Given the description of an element on the screen output the (x, y) to click on. 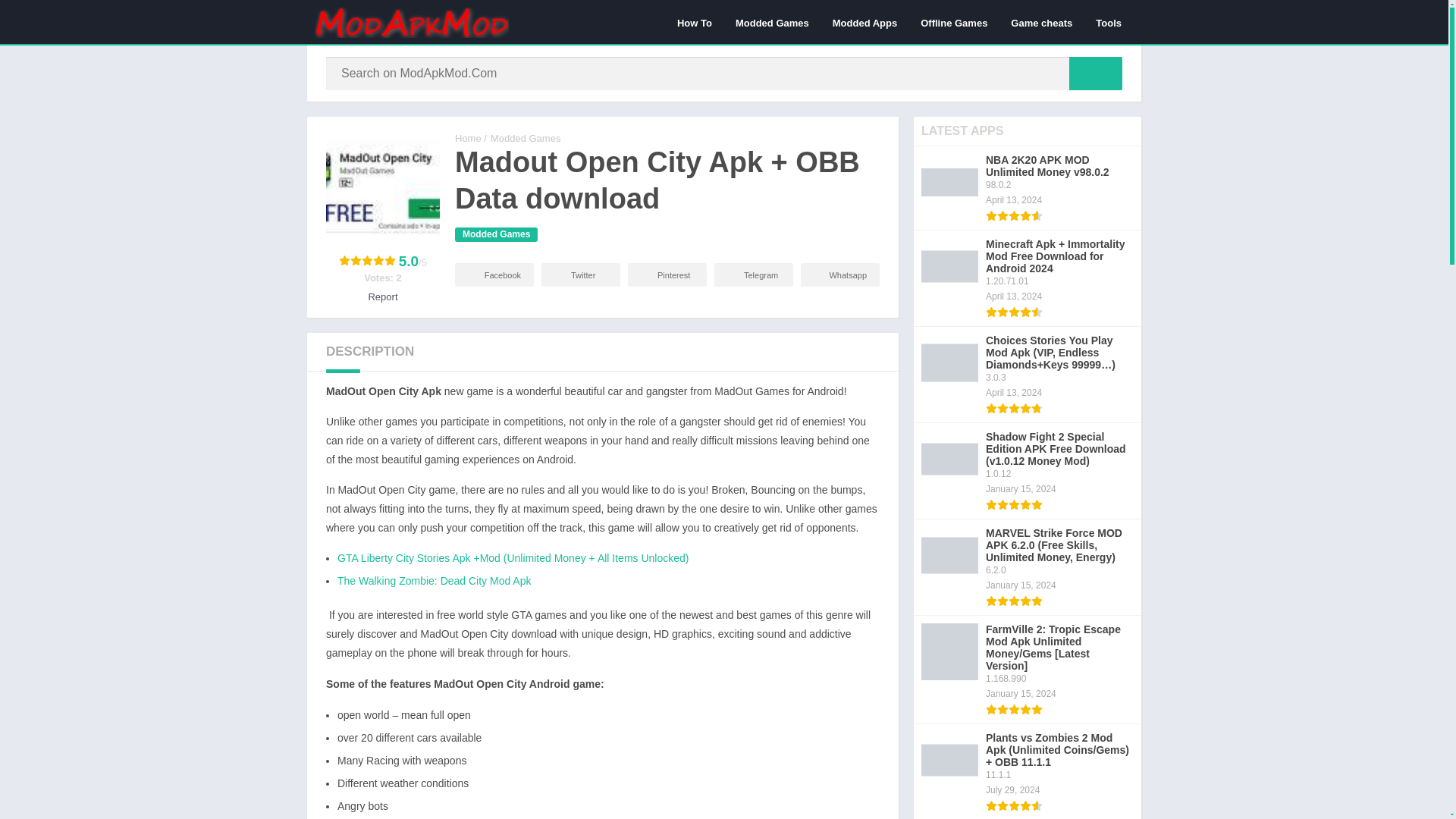
Modded Apps (864, 22)
Home (467, 138)
Twitter (580, 274)
Whatsapp (839, 274)
NBA 2K20 APK MOD Unlimited Money v98.0.2 6 (949, 181)
Modded Games (772, 22)
Pinterest (666, 274)
Offline Android Games (953, 22)
ModApkMod (467, 138)
The Walking Zombie: Dead City Mod Apk (434, 580)
Modded Games (495, 234)
Game cheats (1040, 22)
Telegram (753, 274)
Search on ModApkMod.Com (1095, 73)
